Given the description of an element on the screen output the (x, y) to click on. 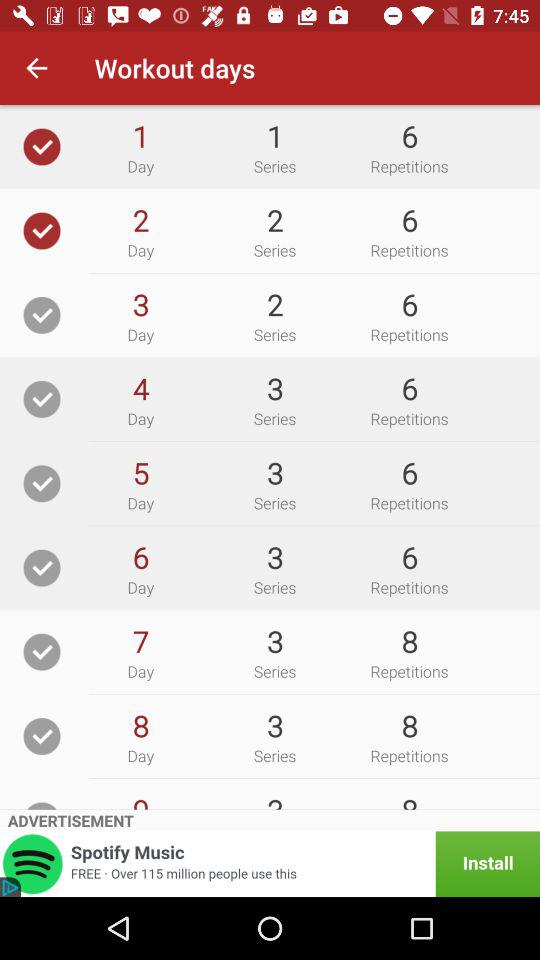
check the option (41, 146)
